Given the description of an element on the screen output the (x, y) to click on. 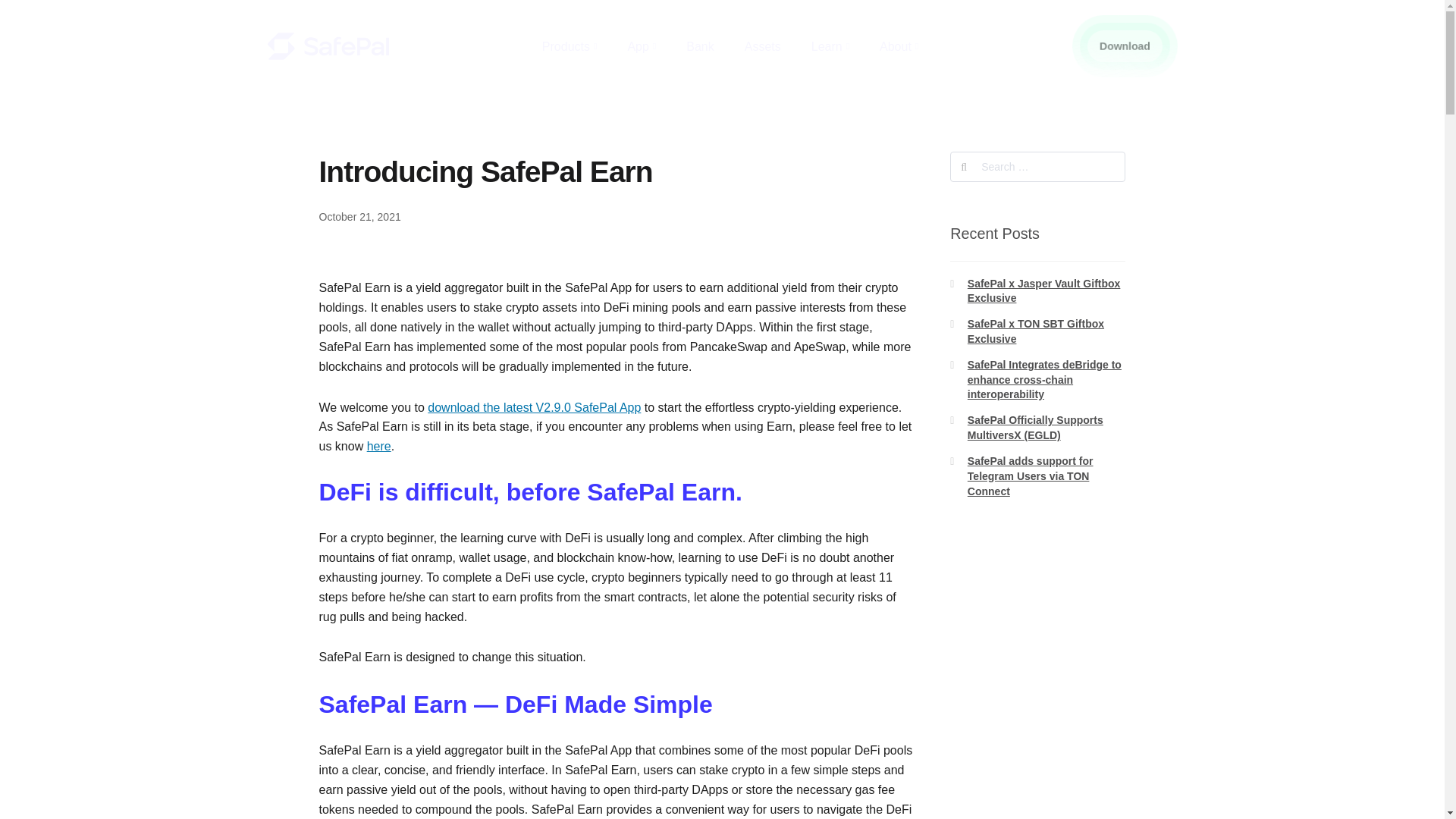
Search (1037, 166)
App (641, 45)
Products (568, 45)
Download (1118, 43)
Assets (762, 45)
Products (568, 45)
Assets (762, 45)
download the latest V2.9.0 SafePal App (534, 407)
Search (1037, 166)
Learn (829, 45)
